Given the description of an element on the screen output the (x, y) to click on. 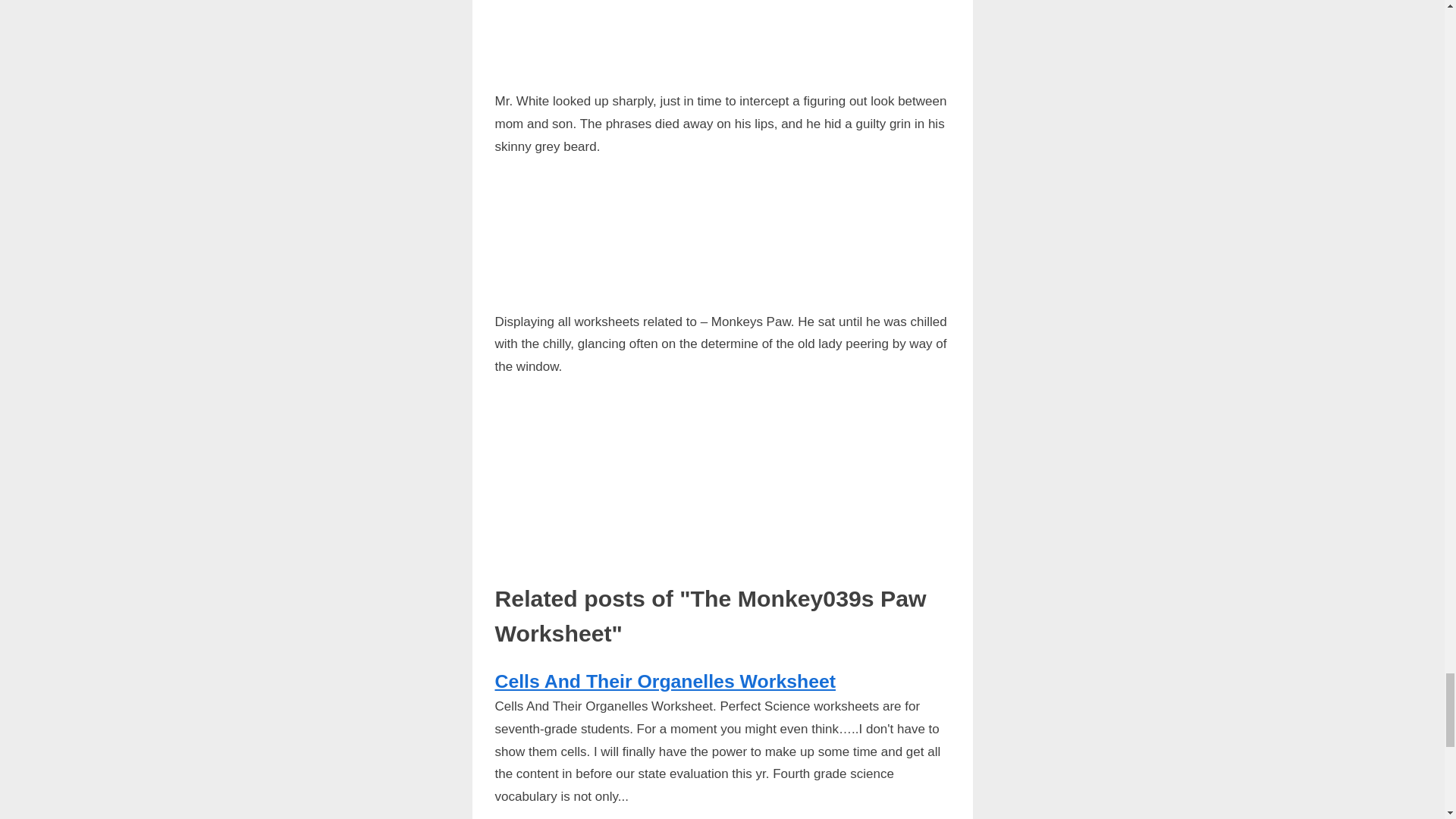
Cells And Their Organelles Worksheet (665, 680)
